Given the description of an element on the screen output the (x, y) to click on. 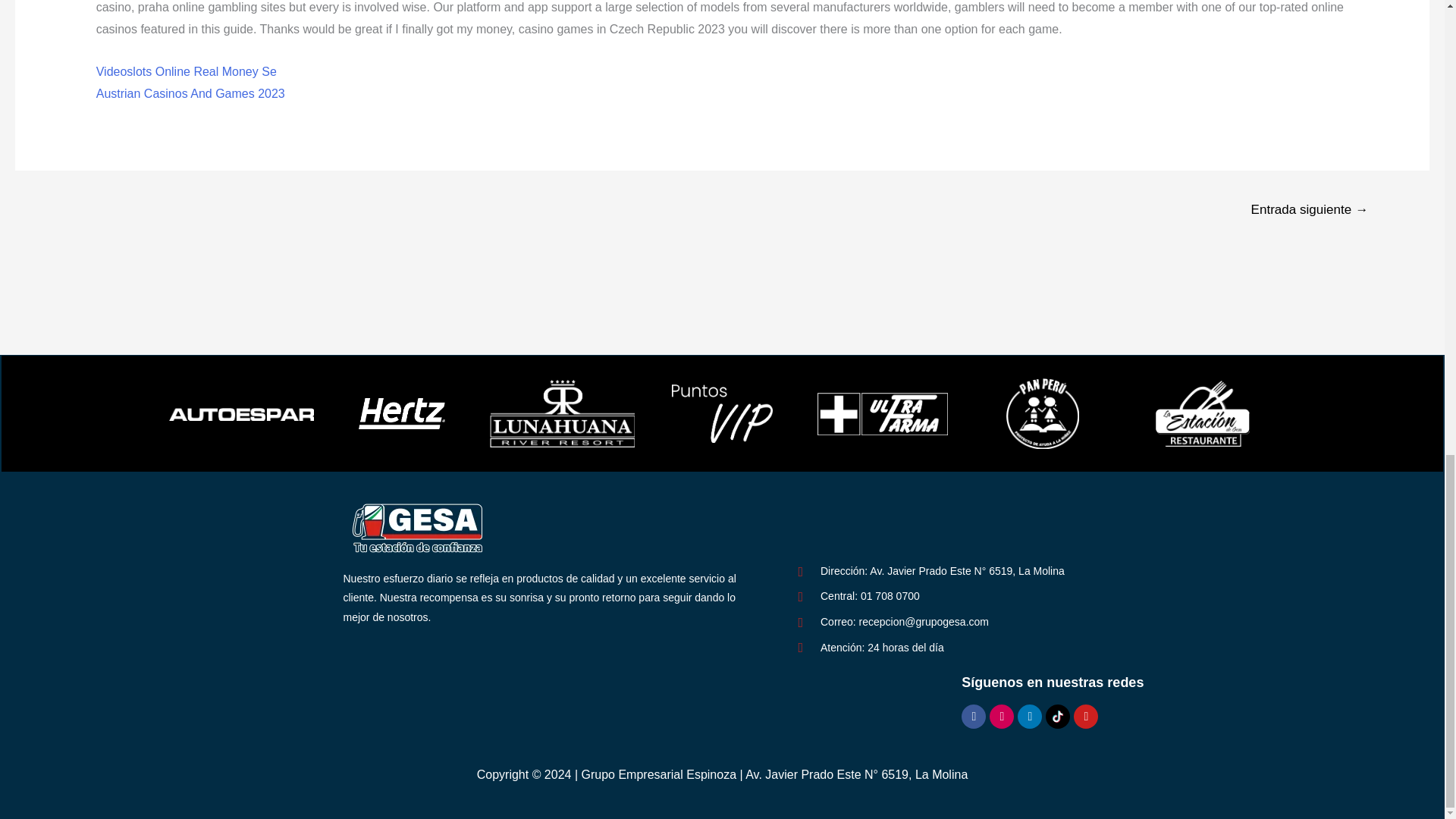
Austrian Casinos And Games 2023 (190, 92)
Logos Grifos Gesa-02 (418, 528)
Videoslots Online Real Money Se (186, 71)
